Given the description of an element on the screen output the (x, y) to click on. 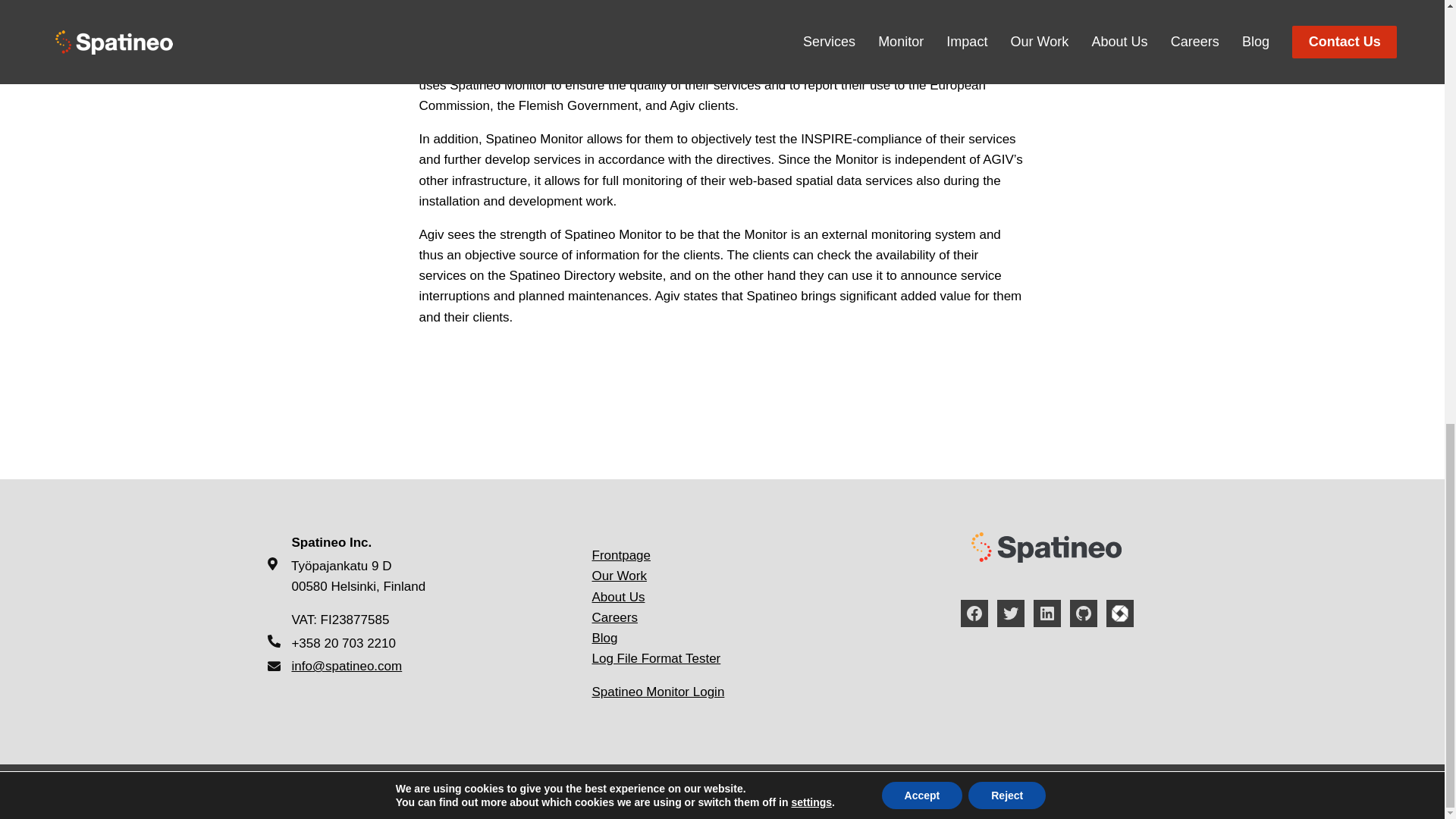
About Us (618, 596)
Our Work (618, 575)
Log File Format Tester (655, 658)
Frontpage (620, 554)
Careers (614, 617)
Blog (604, 637)
